Given the description of an element on the screen output the (x, y) to click on. 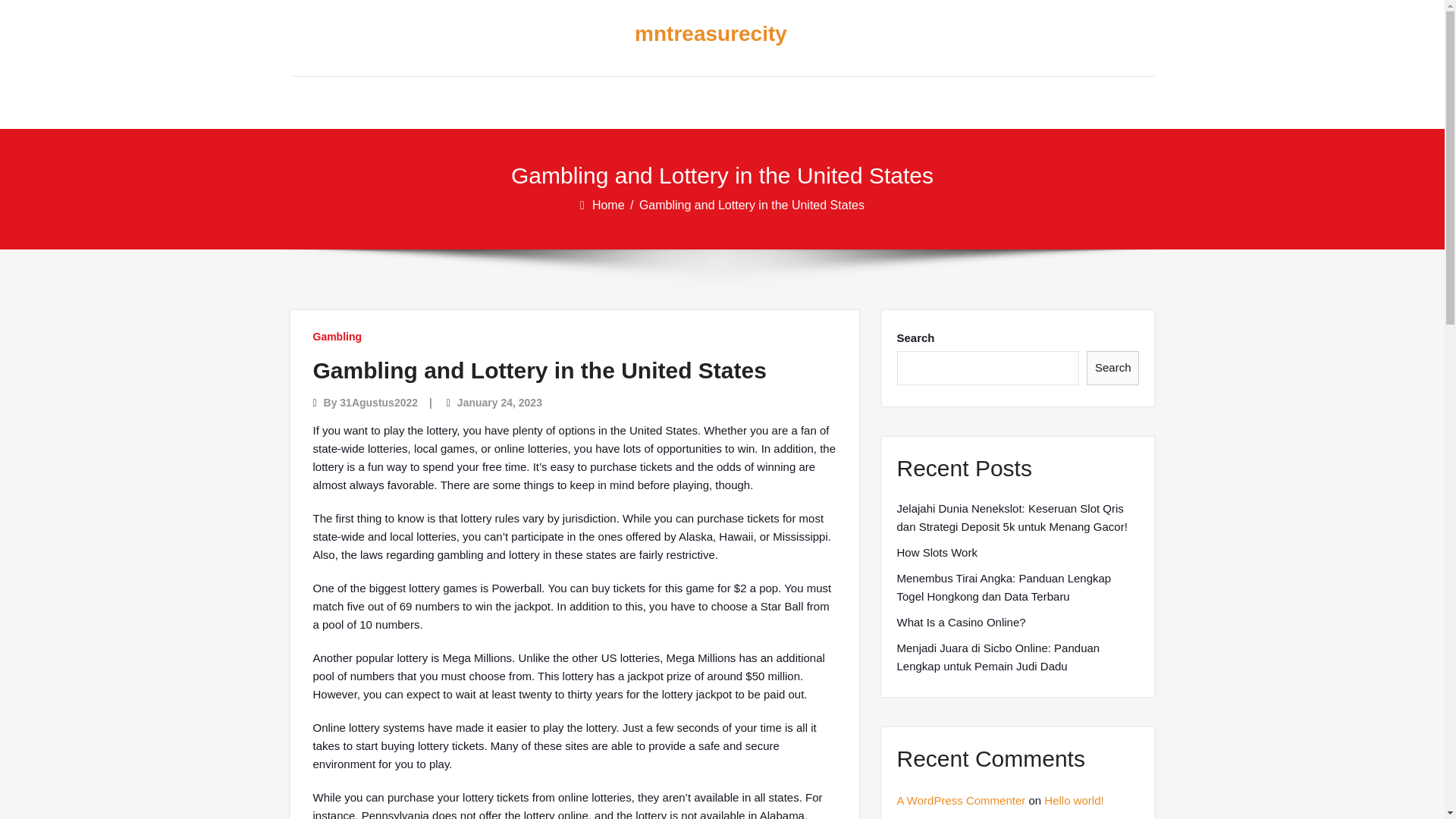
January 24, 2023 (499, 402)
What Is a Casino Online? (960, 622)
Search (1113, 367)
A WordPress Commenter (960, 799)
Hello world! (1073, 799)
mntreasurecity (710, 34)
Gambling (337, 336)
31Agustus2022 (378, 402)
How Slots Work (936, 552)
Home (609, 205)
